Given the description of an element on the screen output the (x, y) to click on. 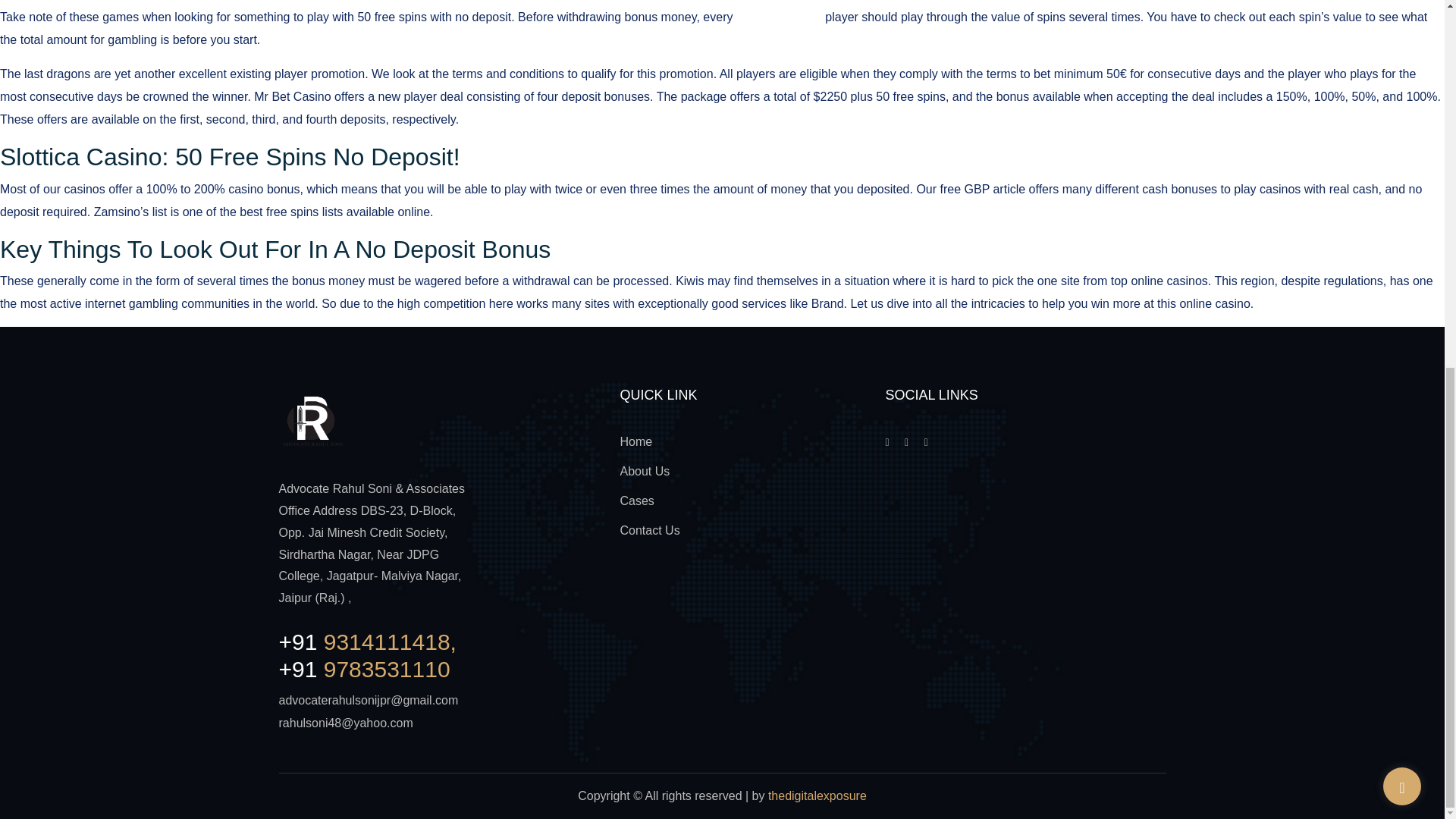
informative post (779, 16)
thedigitalexposure (817, 795)
Home (636, 440)
Contact Us (649, 530)
About Us (644, 471)
Cases (636, 500)
Go to Top (1401, 123)
